Given the description of an element on the screen output the (x, y) to click on. 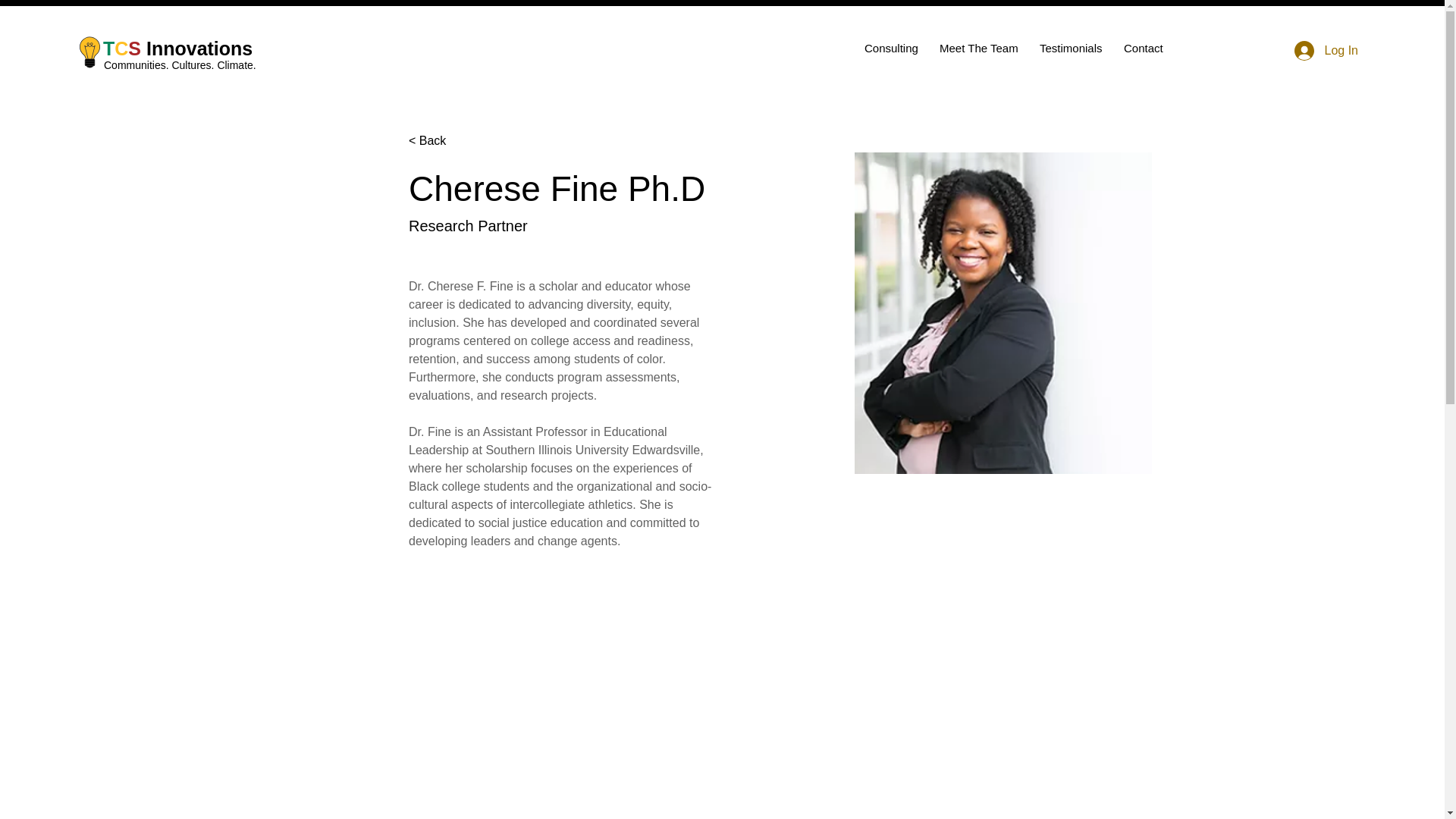
Log In (1326, 50)
Consulting (890, 48)
Contact (1142, 48)
Meet The Team (977, 48)
Testimonials (1069, 48)
TCS Innovations (177, 47)
